Given the description of an element on the screen output the (x, y) to click on. 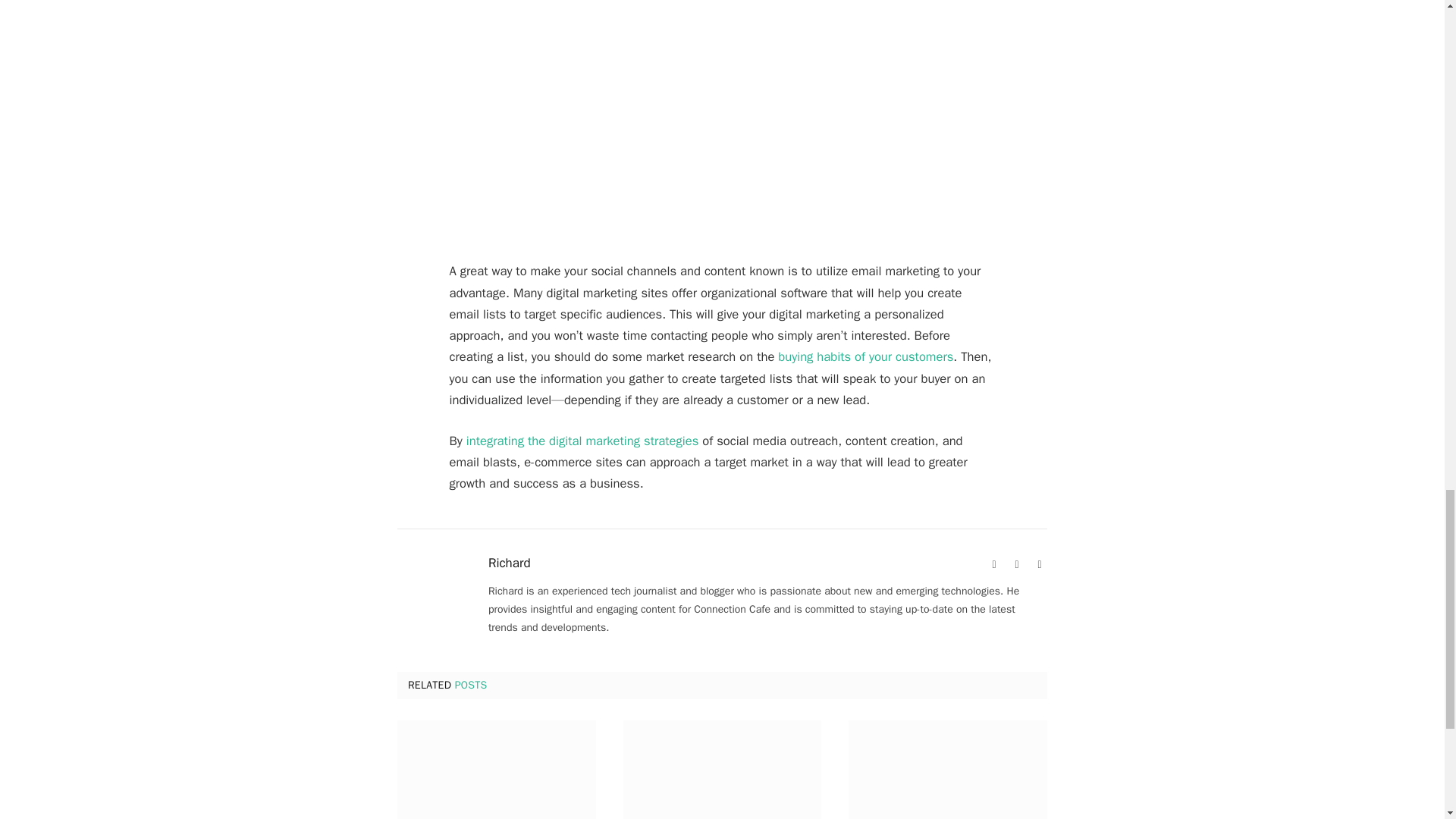
What Is WAAA-117 Technology? (496, 769)
Facebook (1017, 564)
SAP SuccessFactors for Employee Management Success (722, 769)
Twitter (1039, 564)
Posts by Richard (509, 563)
Website (994, 564)
